Given the description of an element on the screen output the (x, y) to click on. 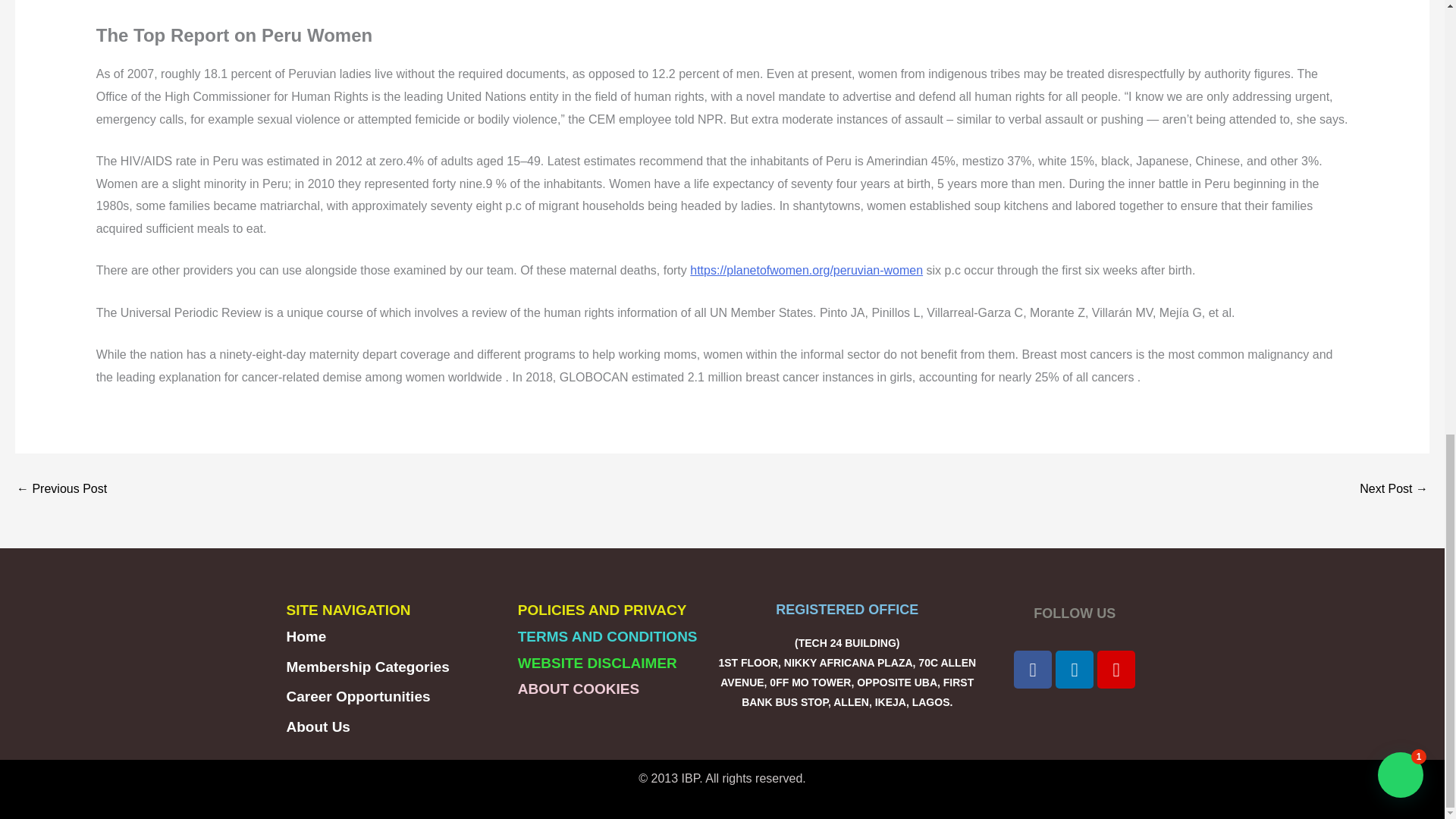
Sex Chat Site Free Videos (1393, 489)
